Given the description of an element on the screen output the (x, y) to click on. 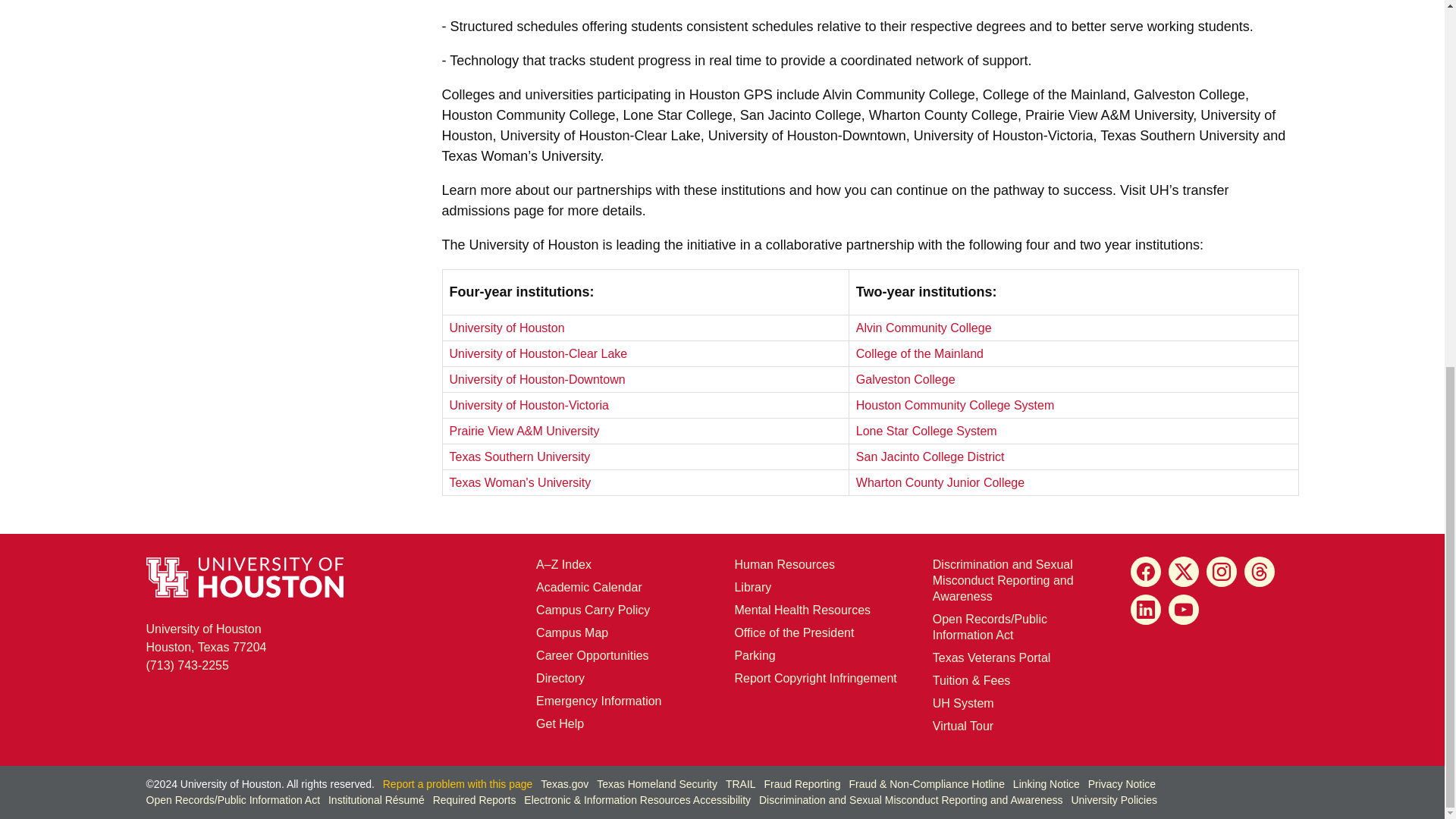
Instagram (1221, 571)
University of Houston-Victoria (528, 404)
Facebook (1145, 571)
Texas Woman's University (519, 481)
YouTube (1183, 608)
University of Houston-Downtown (536, 378)
Houston Community College System (955, 404)
Academic Calendar (588, 585)
Texas Southern University (518, 455)
University of Houston-Clear Lake (537, 352)
Threads (1259, 571)
University of Houston (205, 637)
